Given the description of an element on the screen output the (x, y) to click on. 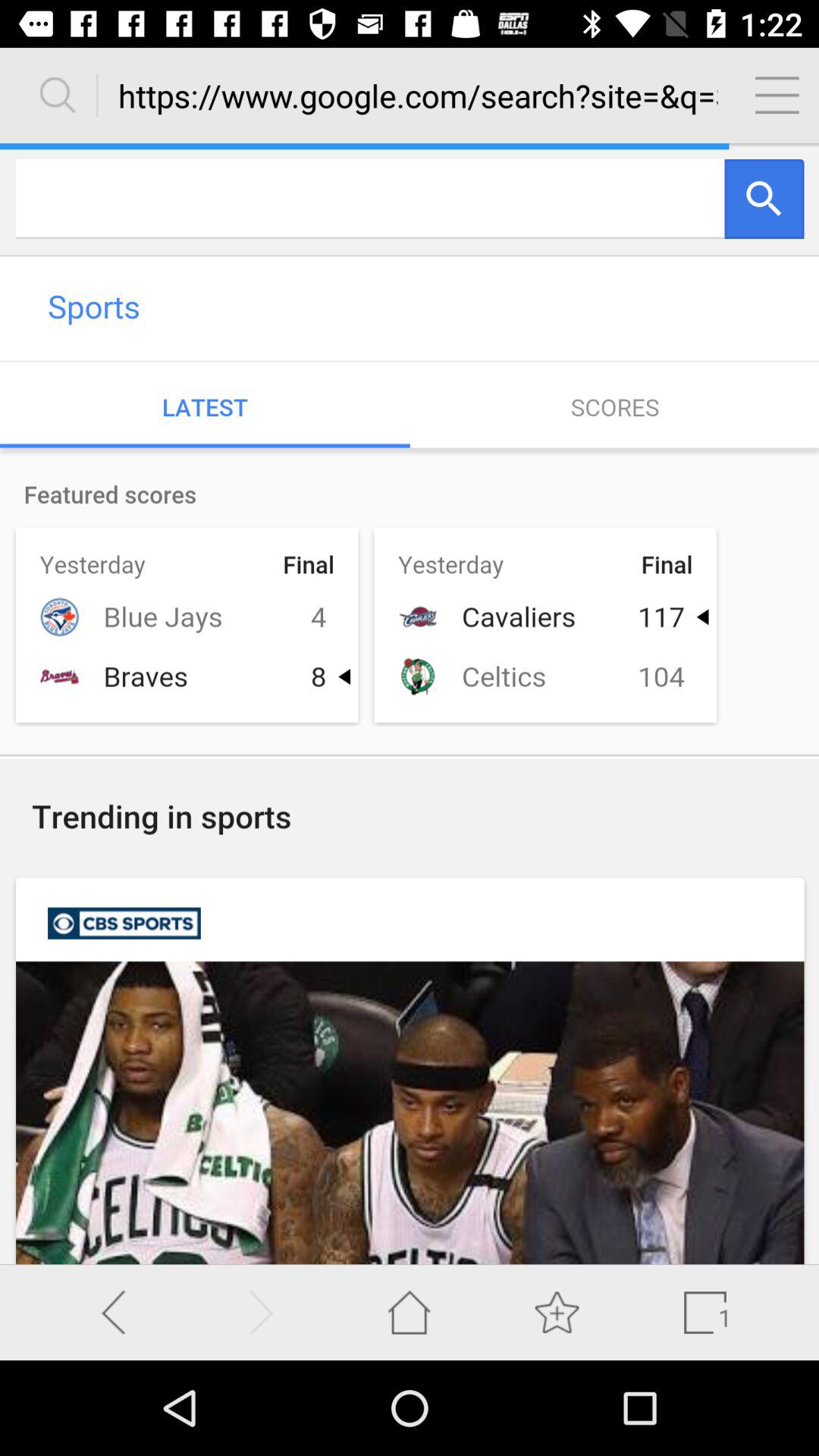
screen page (409, 703)
